Given the description of an element on the screen output the (x, y) to click on. 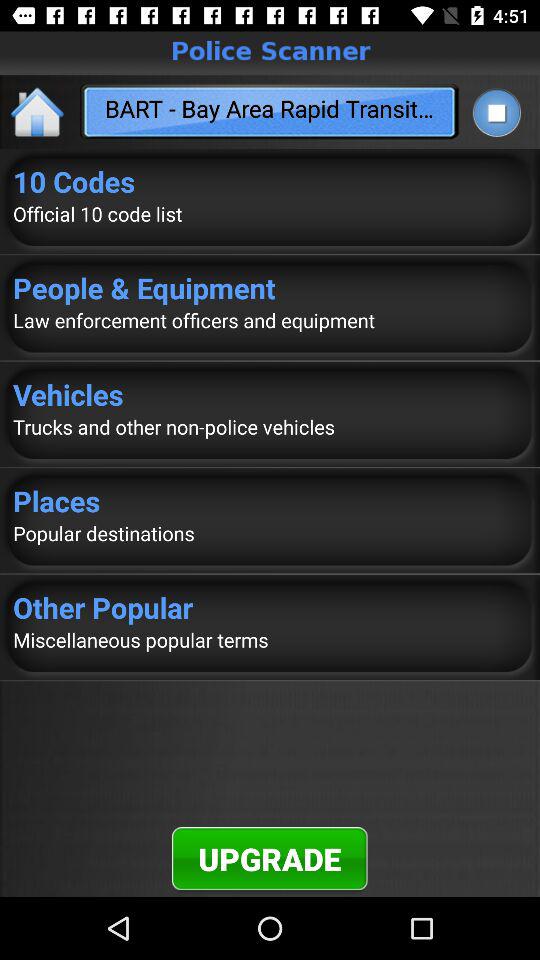
choose the item to the right of bart bay area app (496, 111)
